Given the description of an element on the screen output the (x, y) to click on. 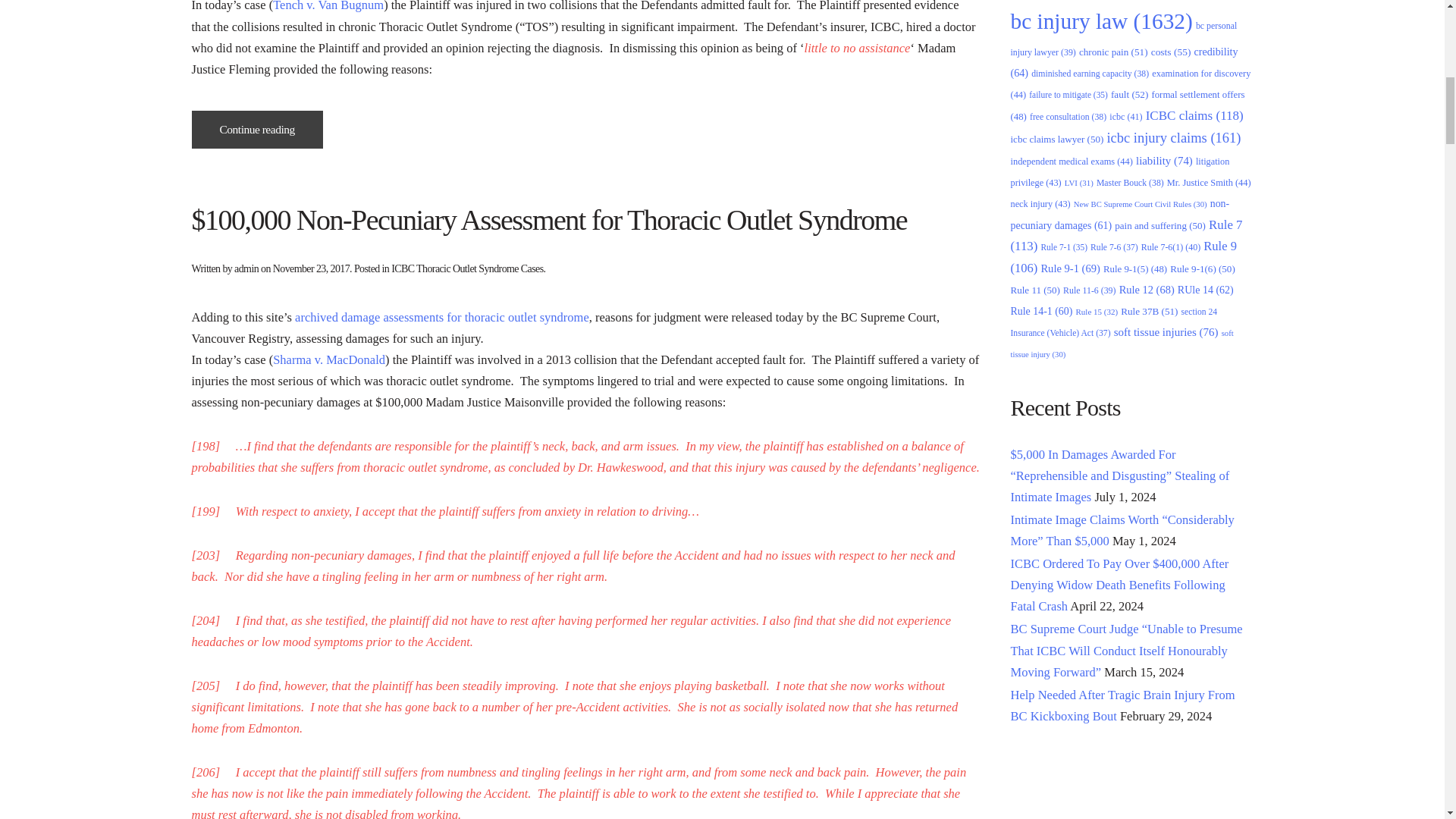
ICBC Thoracic Outlet Syndrome Cases (467, 268)
admin (246, 268)
Sharma v. MacDonald (329, 359)
Tench v. Van Bugnum (328, 6)
Continue reading (255, 129)
archived damage assessments for thoracic outlet syndrome (440, 317)
